Given the description of an element on the screen output the (x, y) to click on. 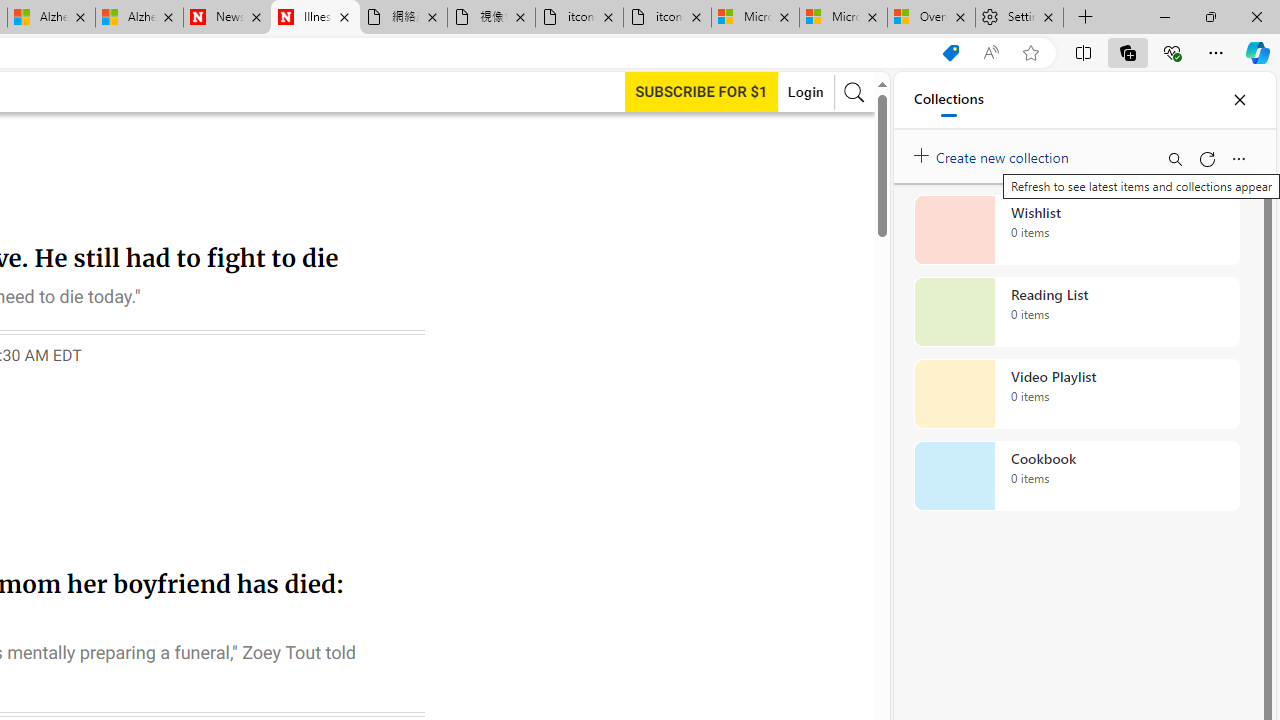
Overview (931, 17)
Login (805, 92)
Video Playlist collection, 0 items (1076, 394)
AutomationID: search-btn (854, 92)
itconcepthk.com/projector_solutions.mp4 (666, 17)
Shopping in Microsoft Edge (950, 53)
Wishlist collection, 0 items (1076, 229)
Cookbook collection, 0 items (1076, 475)
